Given the description of an element on the screen output the (x, y) to click on. 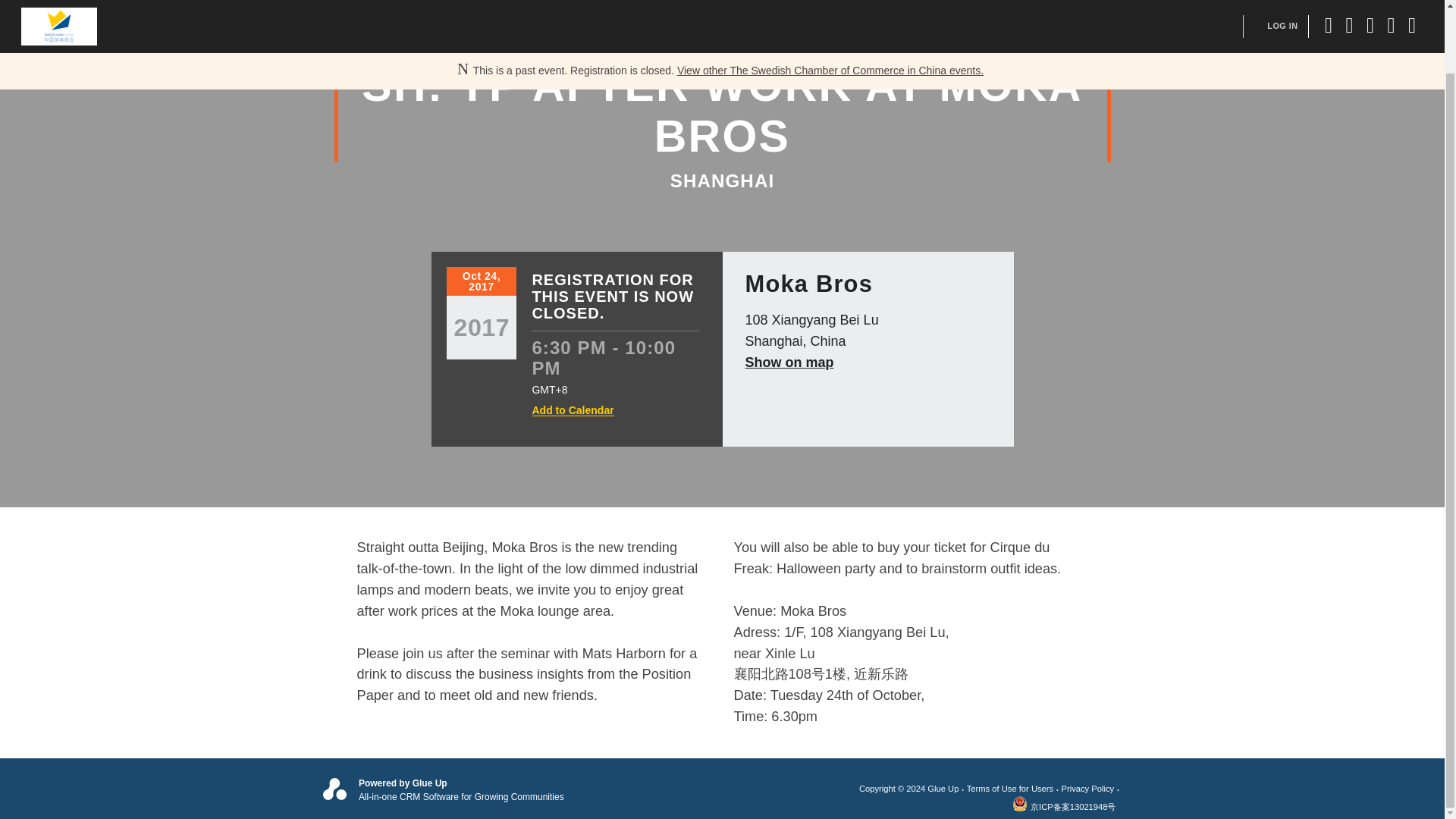
Add to Calendar (573, 410)
Show on map (788, 362)
Privacy Policy (1091, 788)
Terms of Use for Users (1013, 788)
View other The Swedish Chamber of Commerce in China events. (830, 3)
